Given the description of an element on the screen output the (x, y) to click on. 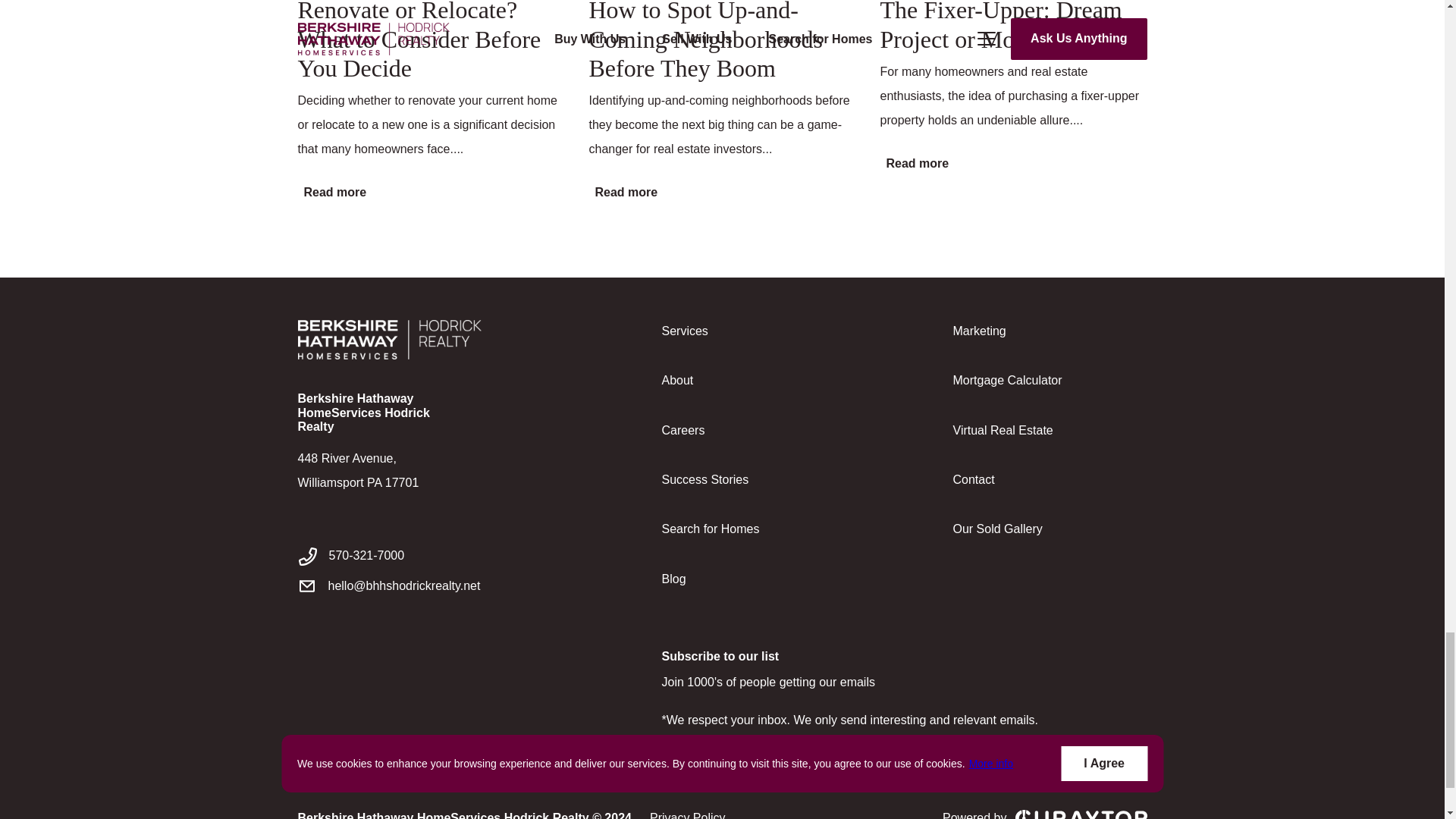
Read more (914, 164)
570-321-7000 (430, 555)
Read more (331, 192)
Read more (623, 192)
